Given the description of an element on the screen output the (x, y) to click on. 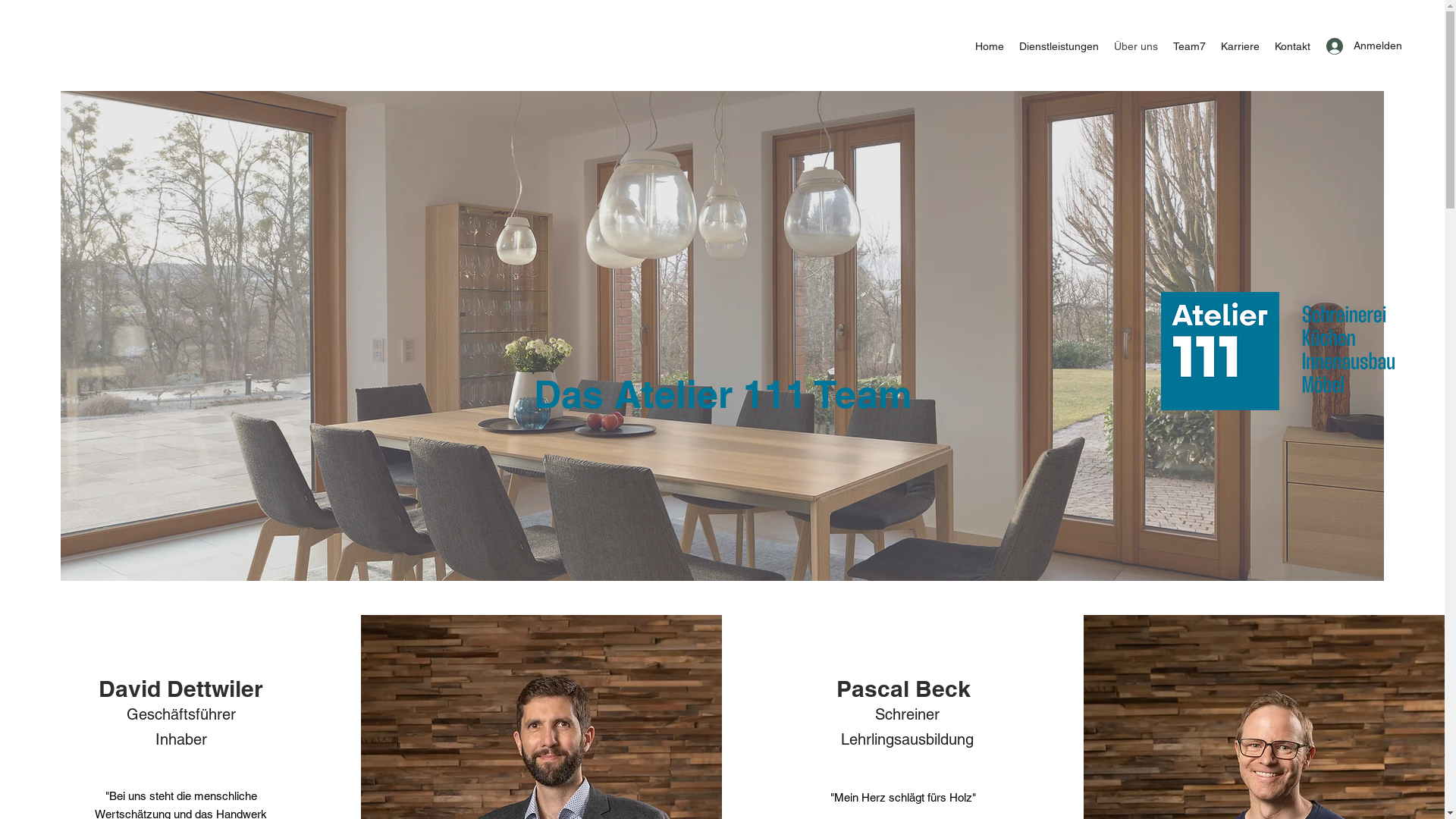
Kontakt Element type: text (1292, 45)
Team7 Element type: text (1189, 45)
Anmelden Element type: text (1349, 45)
Home Element type: text (989, 45)
Dienstleistungen Element type: text (1058, 45)
Karriere Element type: text (1240, 45)
211207_A111_Logo_Service_PETROL.png Element type: hover (1276, 350)
